Given the description of an element on the screen output the (x, y) to click on. 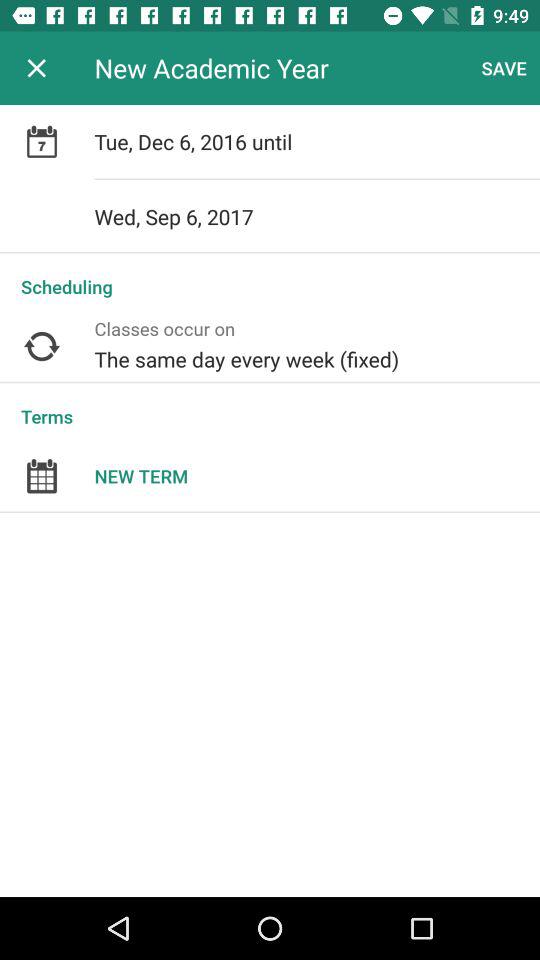
launch the icon next to the new academic year (504, 68)
